Given the description of an element on the screen output the (x, y) to click on. 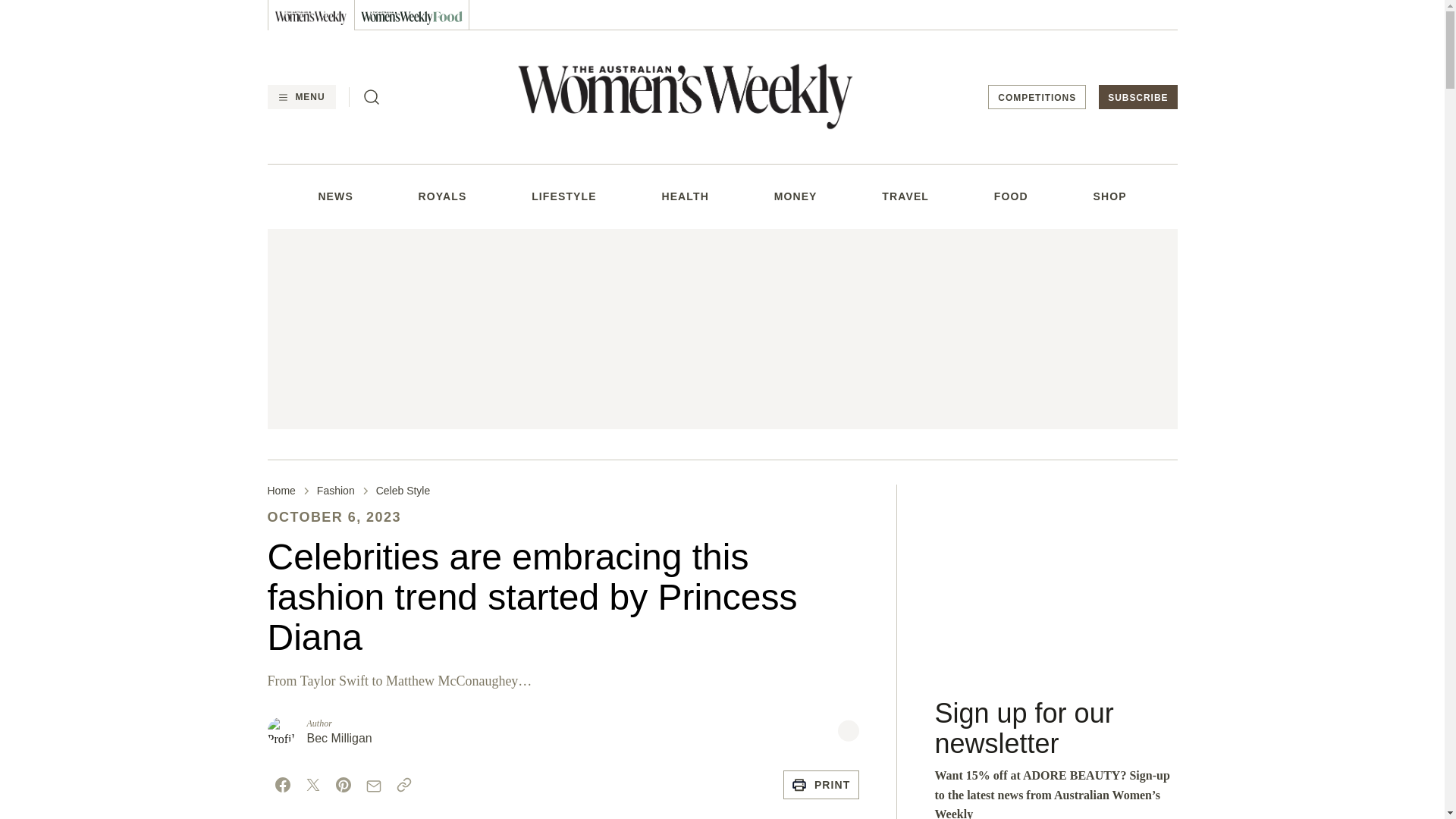
TRAVEL (905, 196)
SUBSCRIBE (1137, 96)
LIFESTYLE (563, 196)
COMPETITIONS (1037, 96)
ROYALS (443, 196)
MONEY (795, 196)
FOOD (1010, 196)
MENU (300, 96)
NEWS (334, 196)
HEALTH (684, 196)
